Given the description of an element on the screen output the (x, y) to click on. 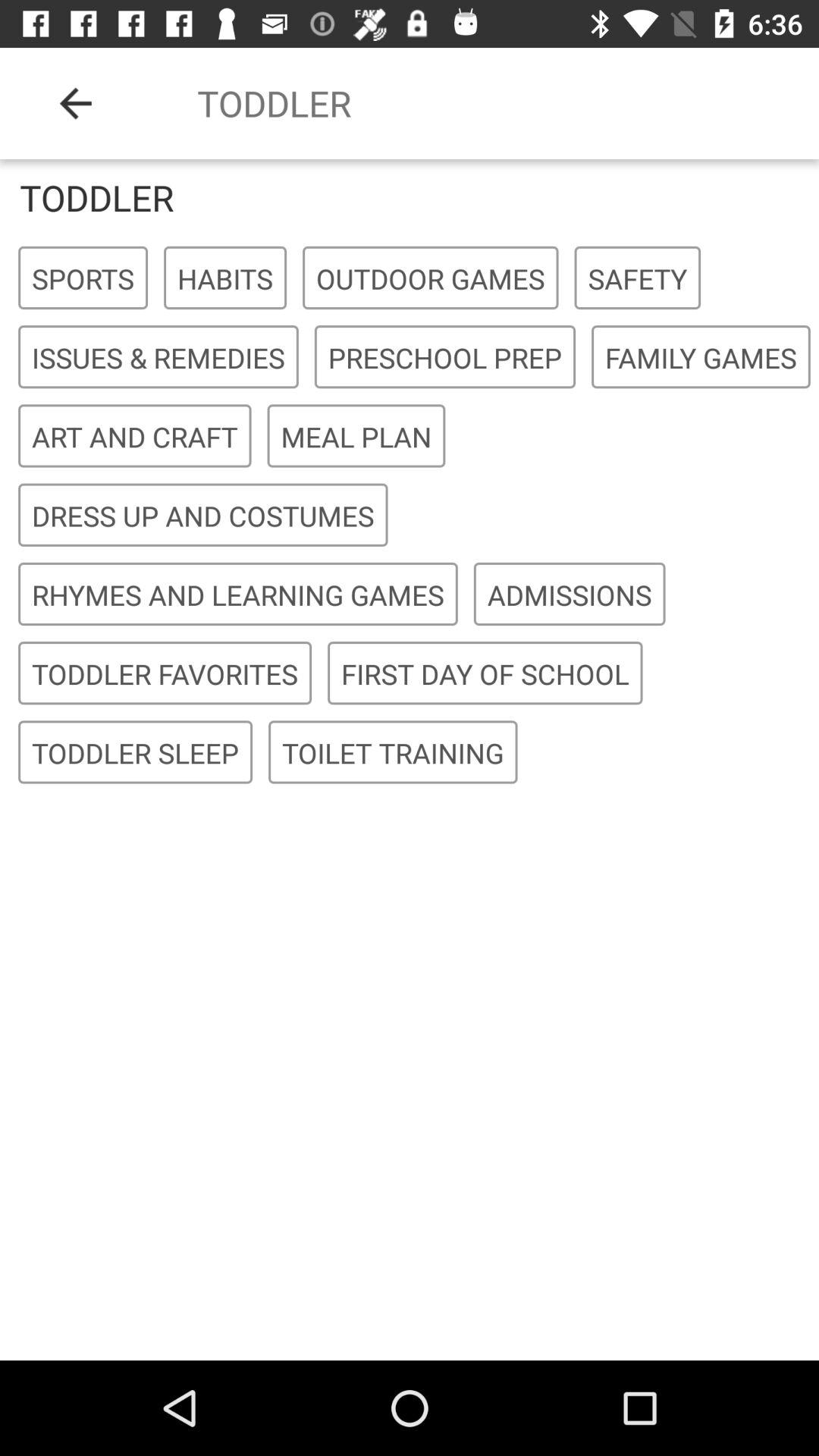
open the dress up and icon (202, 515)
